Given the description of an element on the screen output the (x, y) to click on. 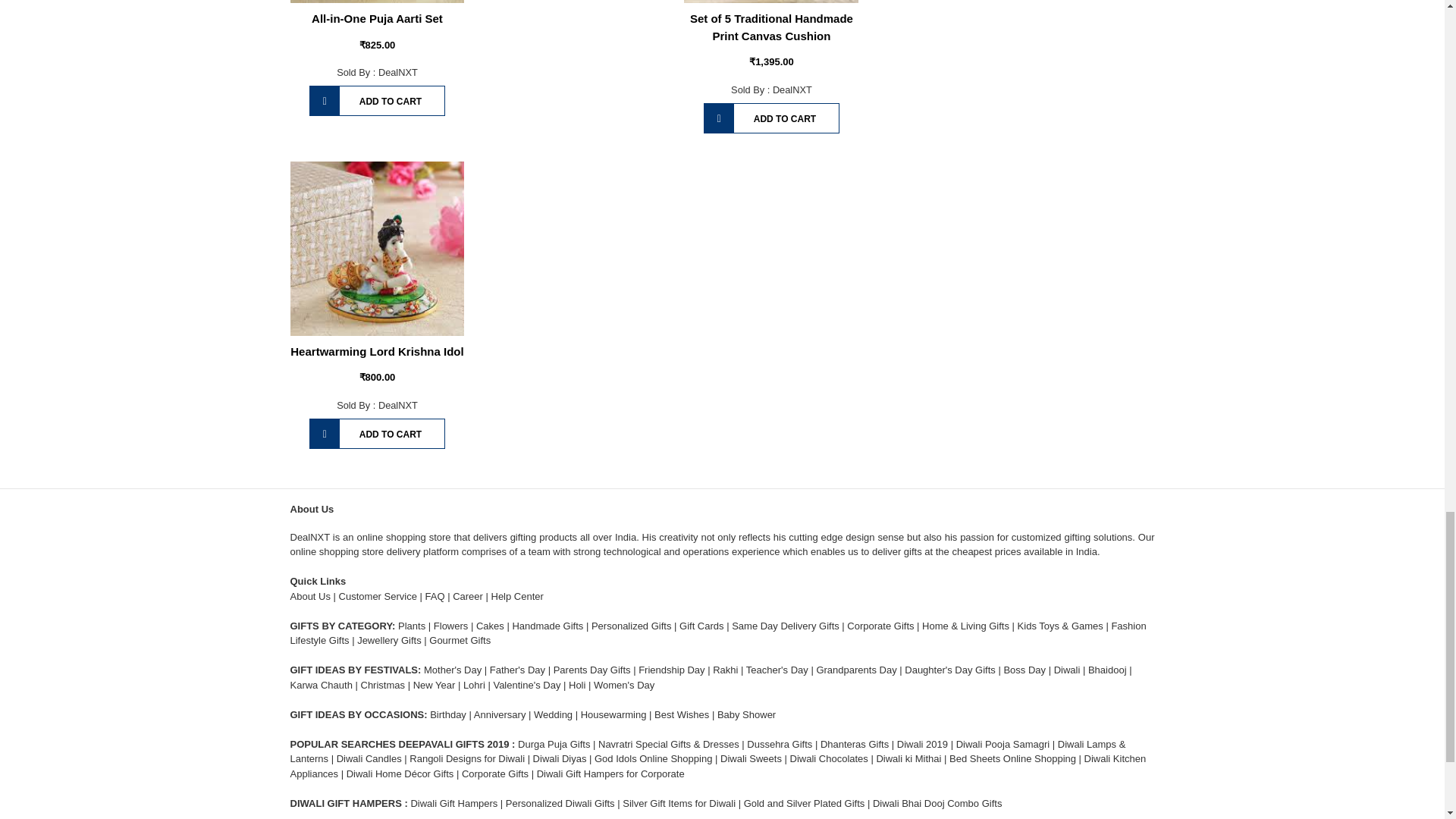
Heartwarming Lord Krishna Idol (376, 350)
Set of 5 Traditional Handmade Print Canvas Cushion (771, 1)
All-in-One Puja Aarti Set (376, 18)
All-in-One Puja Aarti Set (376, 1)
Set of 5 Traditional Handmade Print Canvas Cushion (771, 27)
Heartwarming Lord Krishna Idol (376, 248)
